Given the description of an element on the screen output the (x, y) to click on. 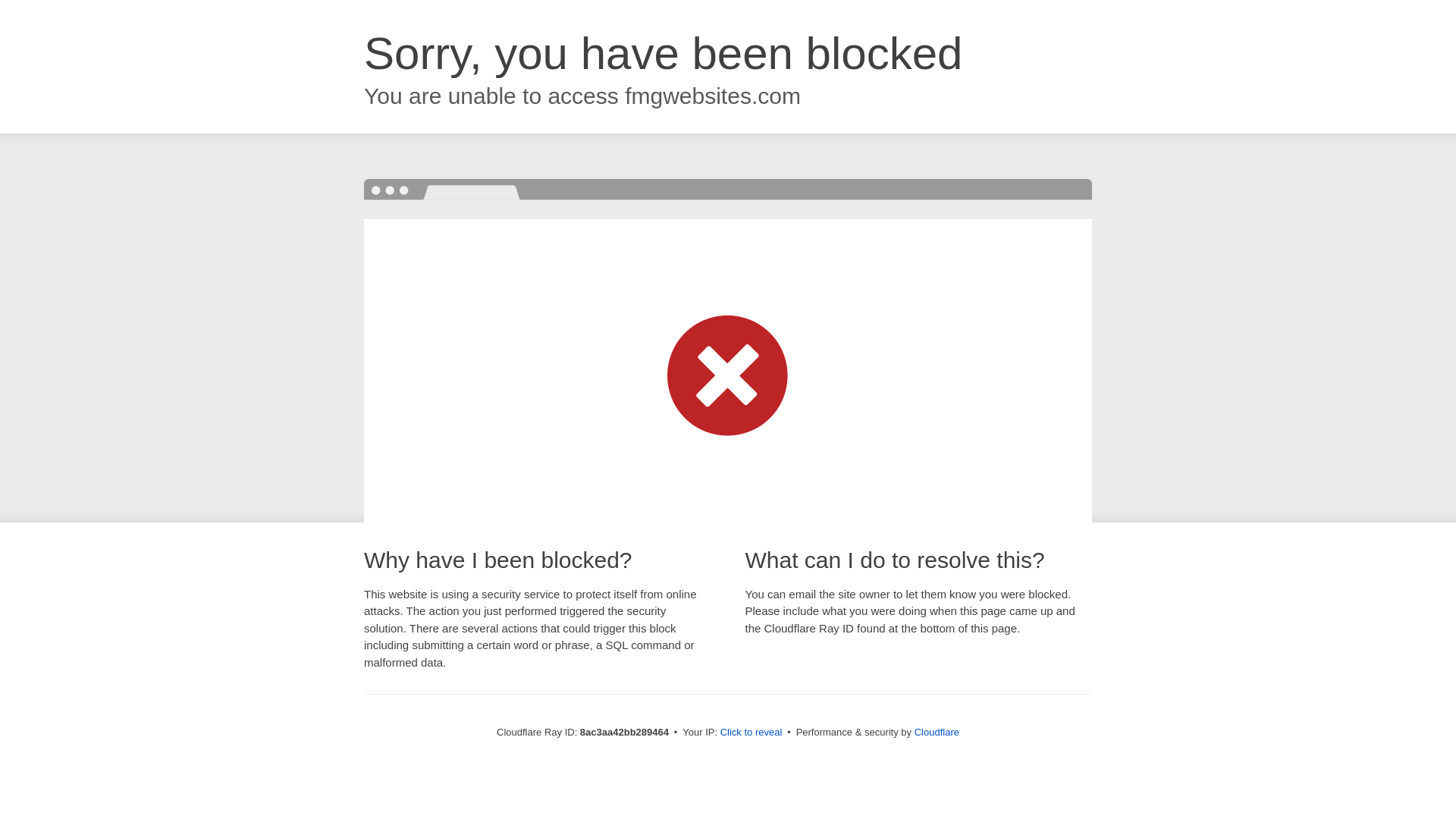
Click to reveal (751, 732)
Cloudflare (936, 731)
